Given the description of an element on the screen output the (x, y) to click on. 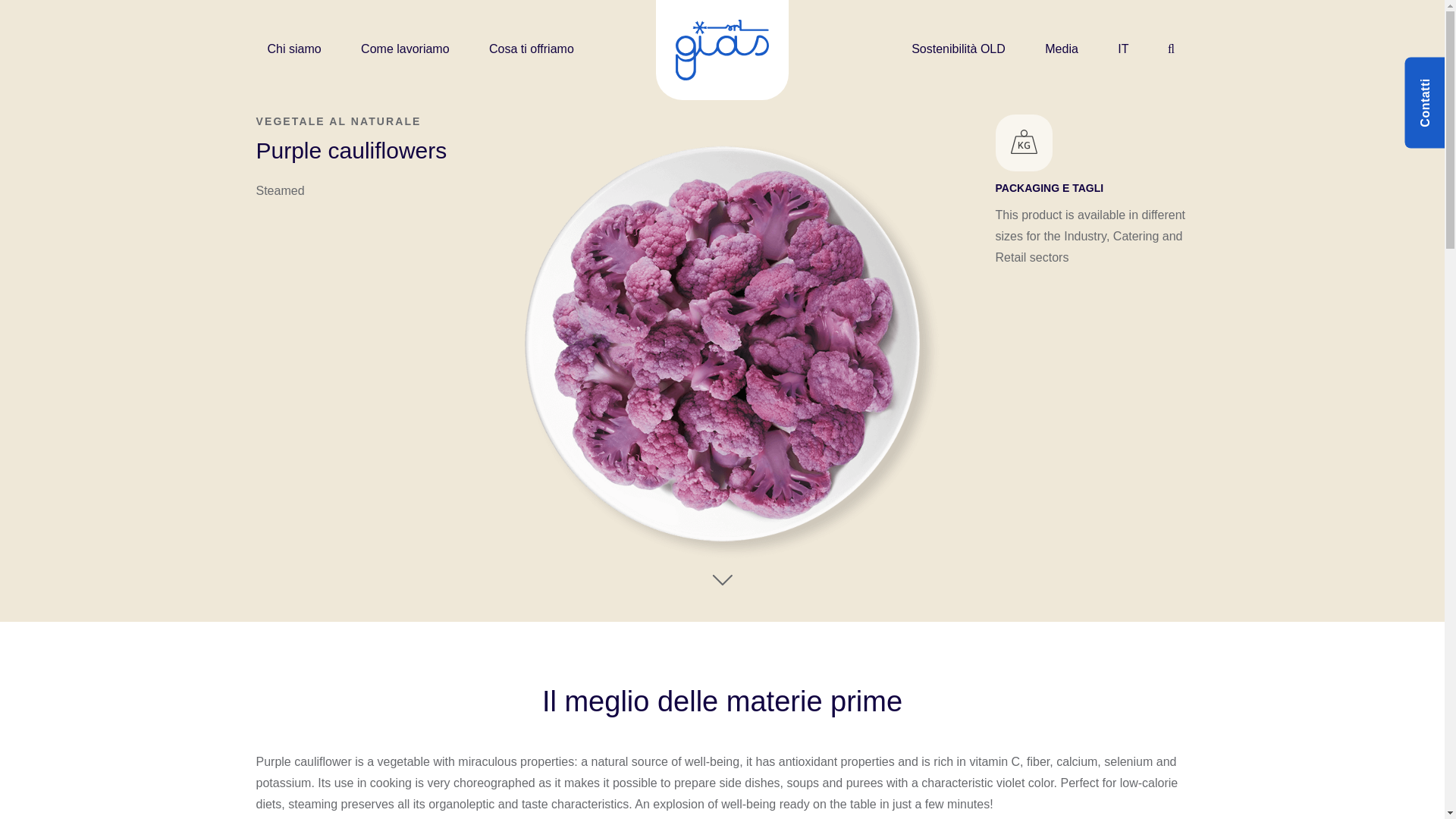
IT (1129, 48)
Come lavoriamo (412, 48)
Media (1068, 48)
Cosa ti offriamo (538, 48)
Chi siamo (300, 48)
